Given the description of an element on the screen output the (x, y) to click on. 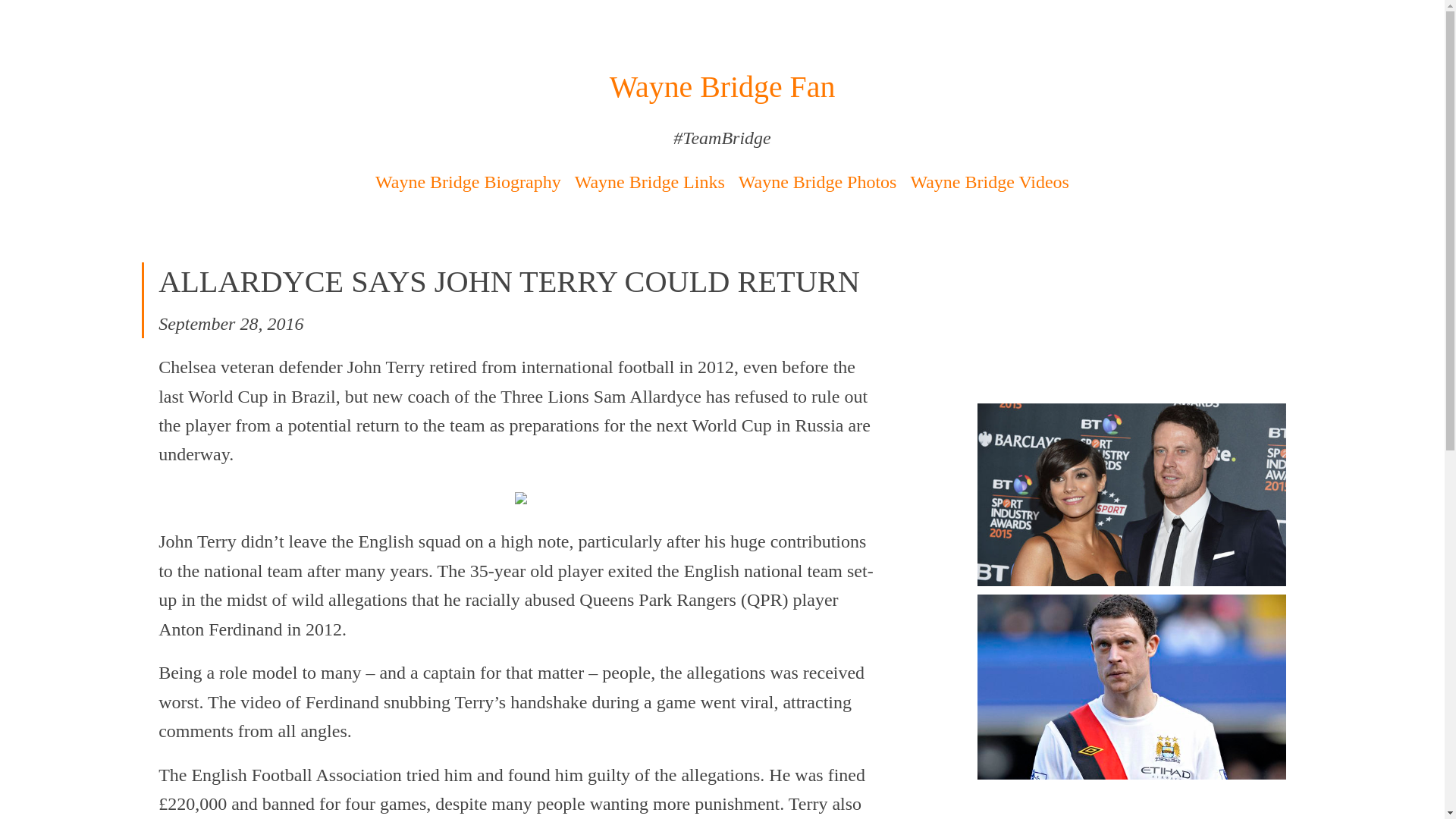
Wayne Bridge Photos (817, 181)
Wayne Bridge Links (650, 181)
Wayne Bridge Videos (989, 181)
Wayne Bridge Biography (467, 181)
Wayne Bridge Fan (722, 86)
